Given the description of an element on the screen output the (x, y) to click on. 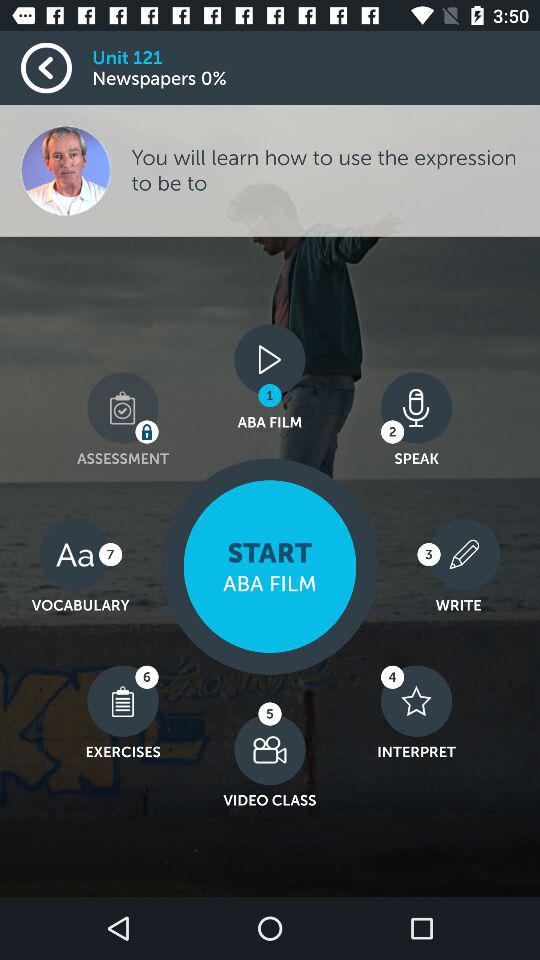
go to previous (56, 67)
